Given the description of an element on the screen output the (x, y) to click on. 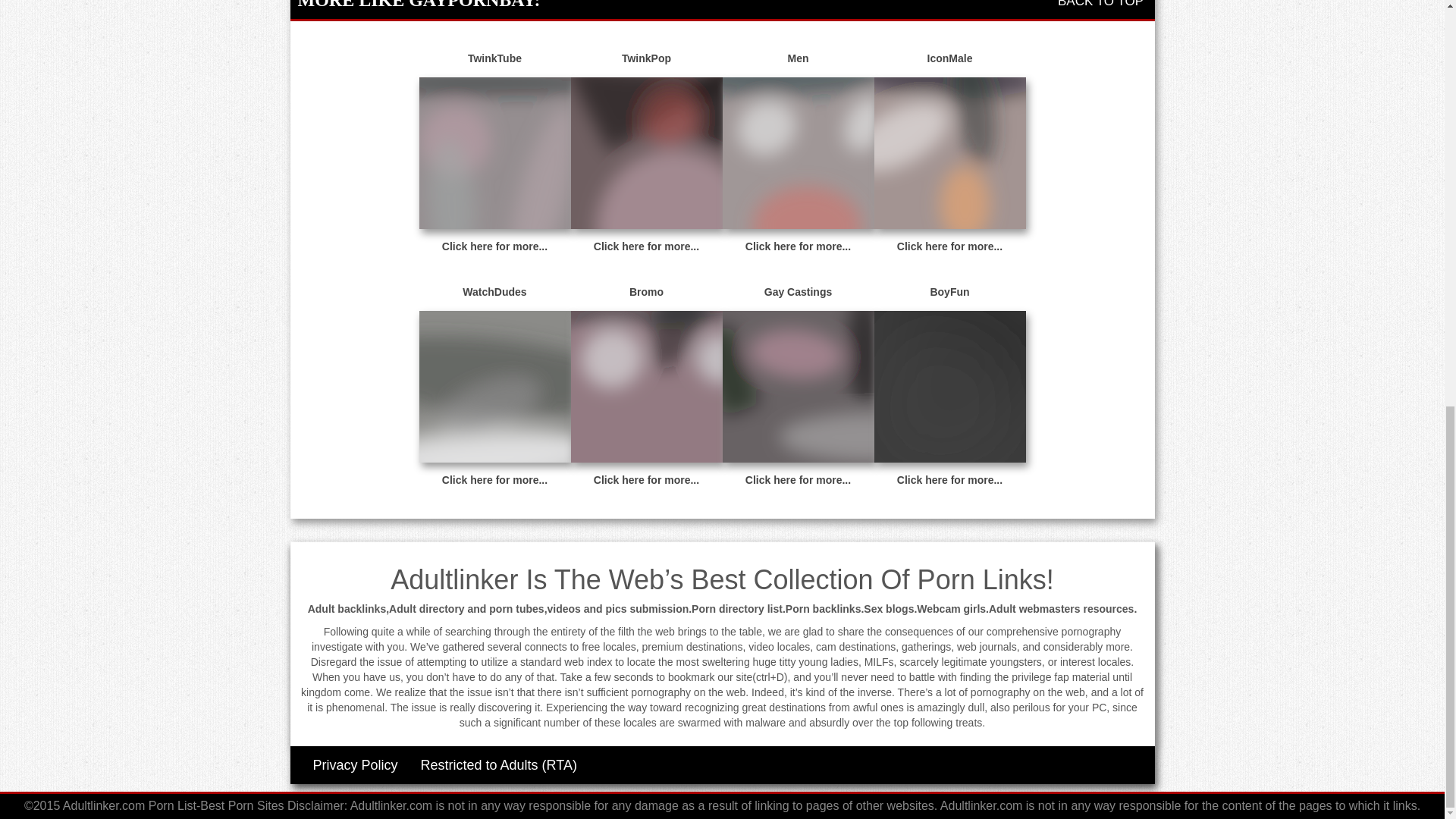
Men (797, 58)
TwinkTube (494, 58)
Click here for more... (797, 246)
Click here for more... (949, 246)
Bromo (646, 292)
WatchDudes (494, 292)
TwinkPop (646, 58)
BACK TO TOP (1102, 4)
Click here for more... (494, 246)
IconMale (949, 58)
